Given the description of an element on the screen output the (x, y) to click on. 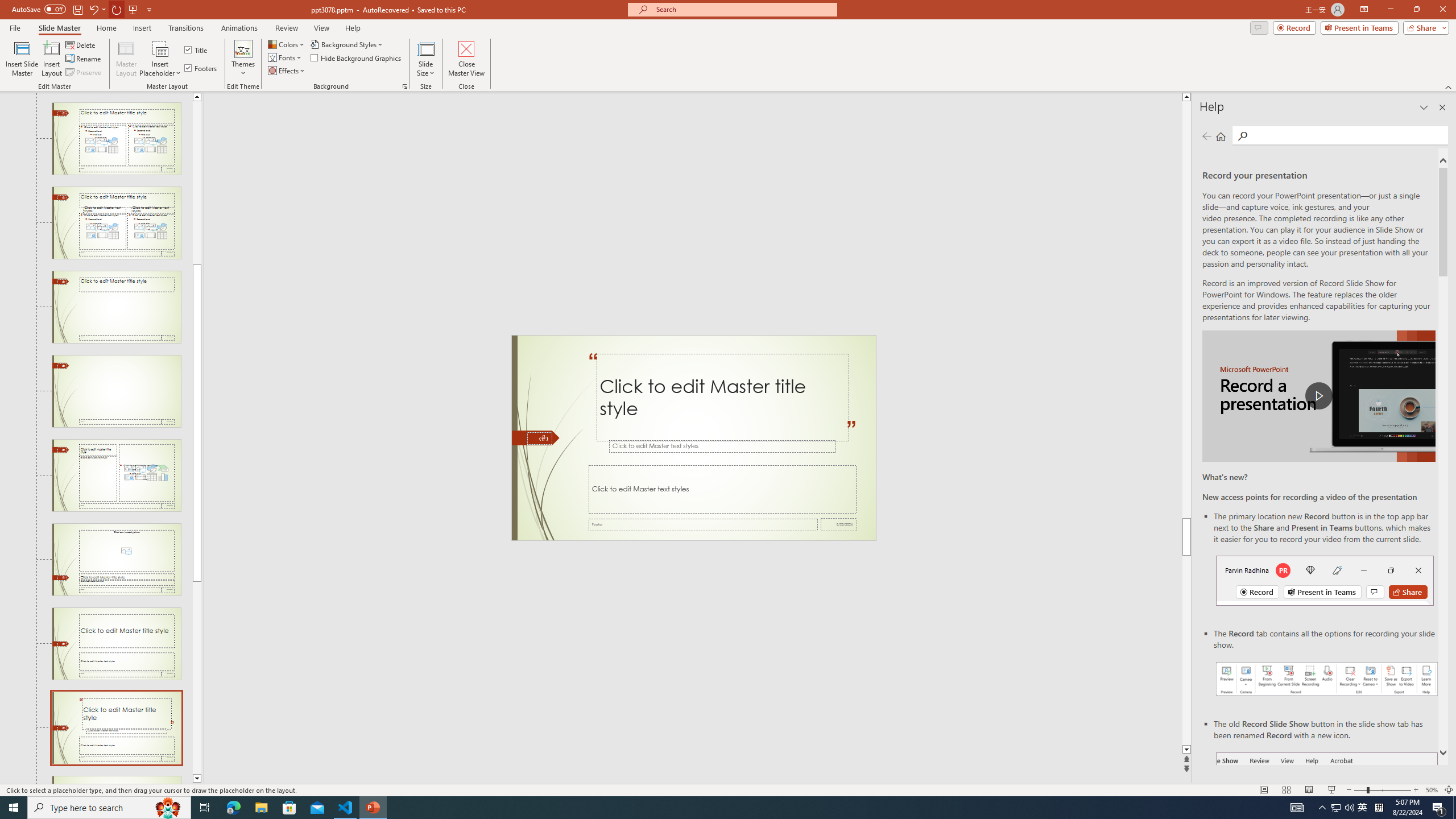
Insert Layout (51, 58)
Slide Quote with Caption Layout: used by no slides (116, 728)
